Given the description of an element on the screen output the (x, y) to click on. 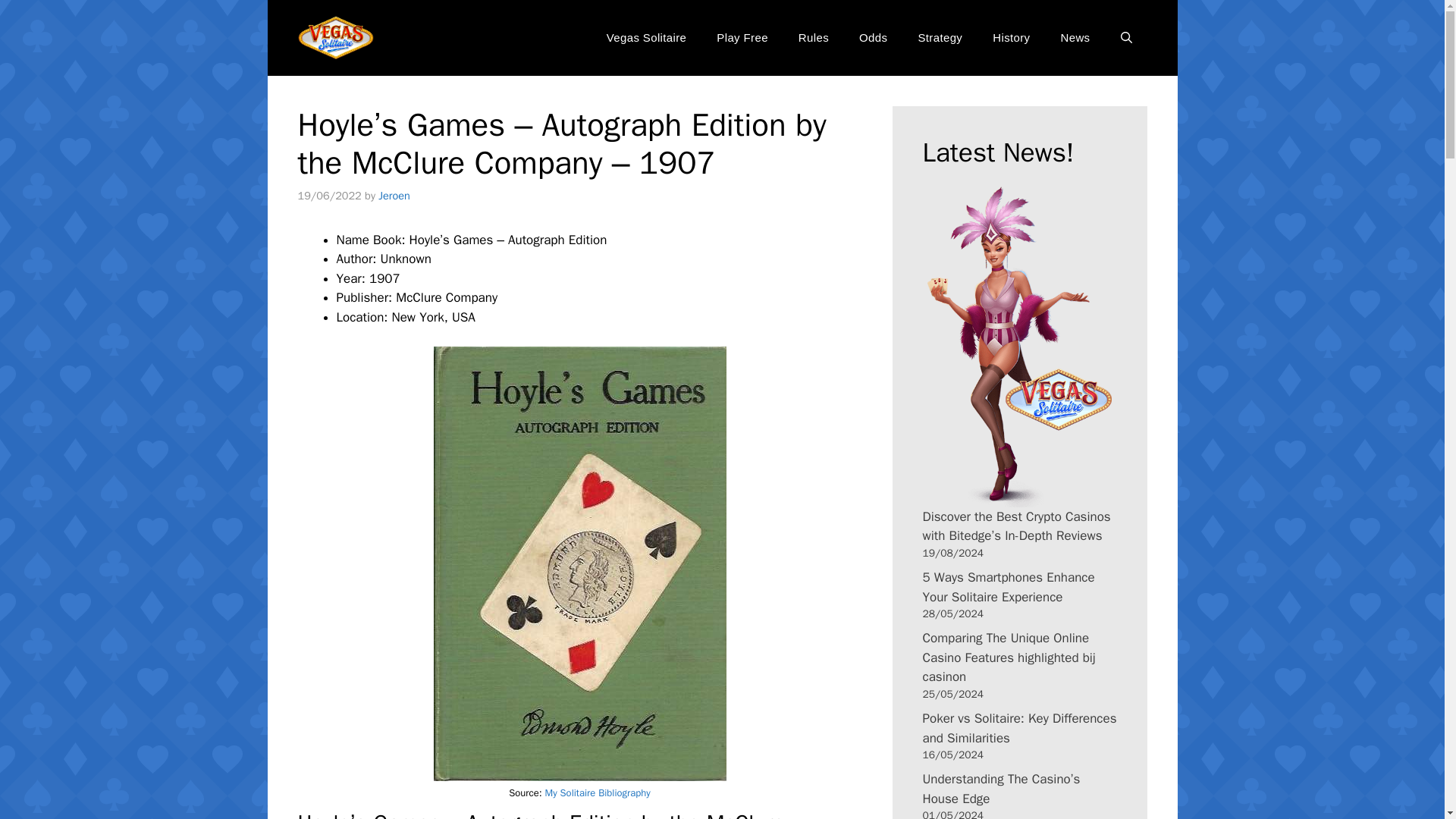
Odds (873, 37)
Jeroen (394, 195)
My Solitaire Bibliography (597, 792)
Vegas Solitaire (646, 37)
Poker vs Solitaire: Key Differences and Similarities (1018, 728)
Strategy (939, 37)
Play Free (742, 37)
Rules (813, 37)
5 Ways Smartphones Enhance Your Solitaire Experience (1007, 587)
